Given the description of an element on the screen output the (x, y) to click on. 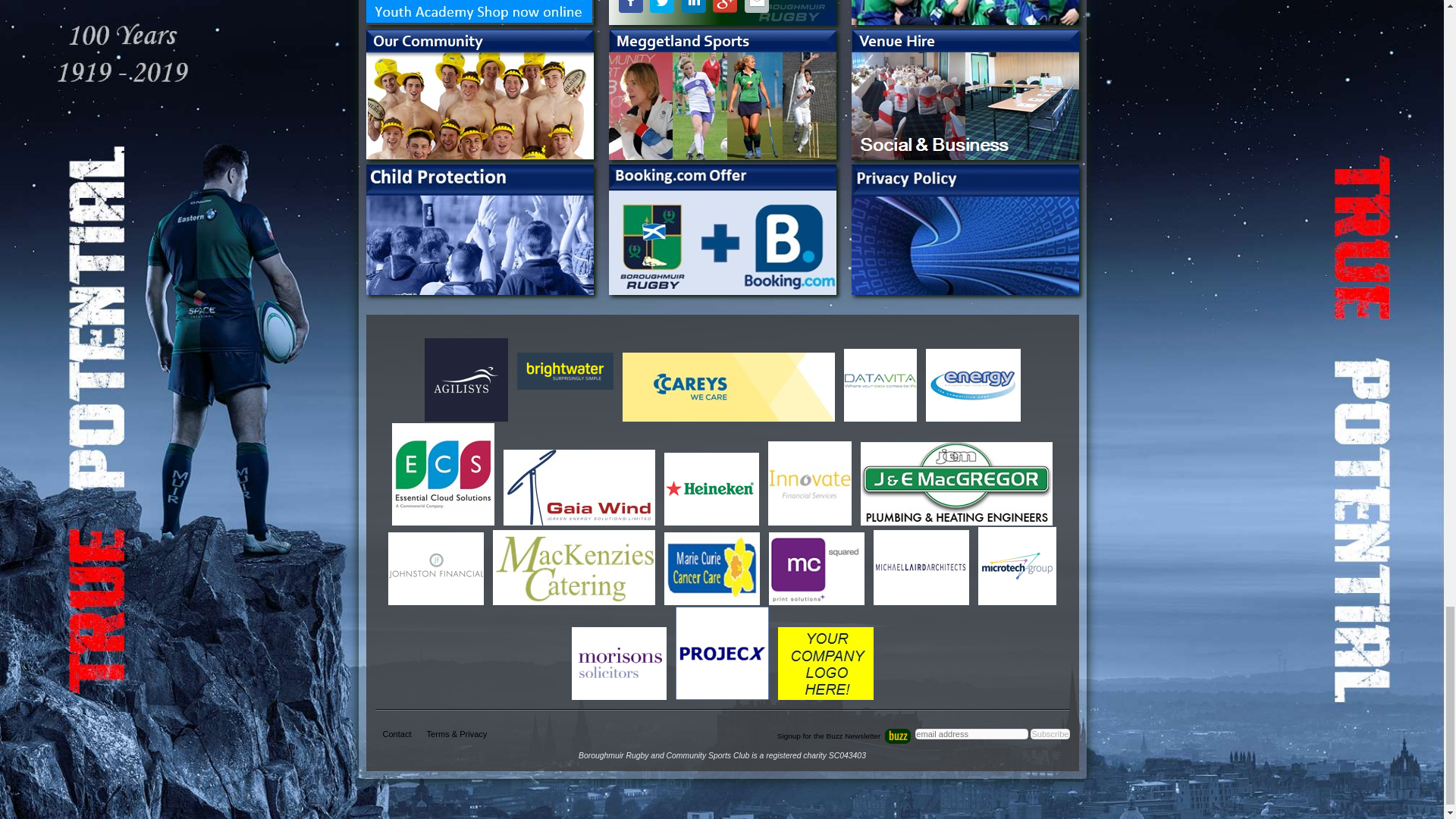
Subscribe (1049, 733)
